Given the description of an element on the screen output the (x, y) to click on. 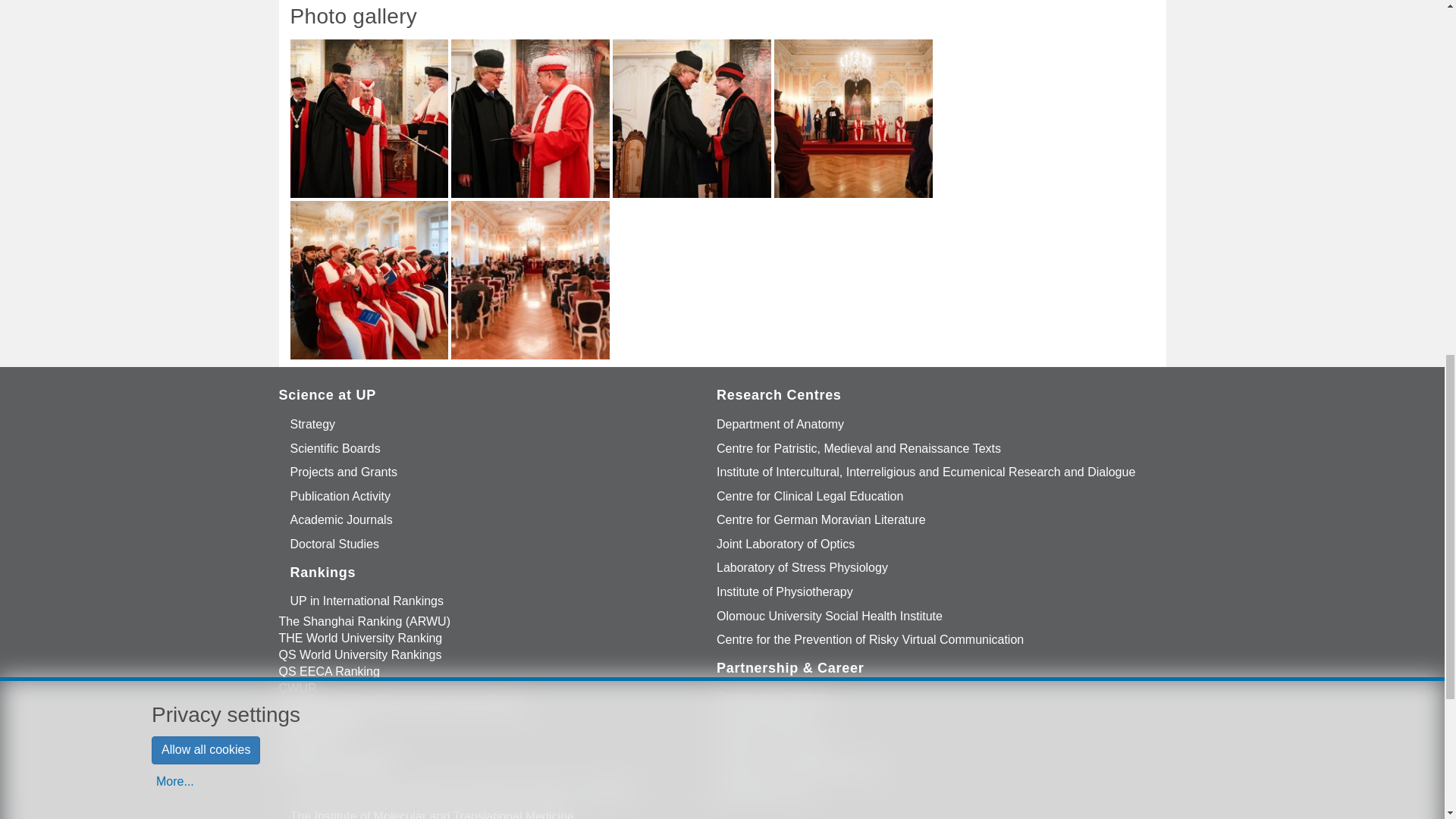
Projects and Grants (344, 472)
UP in International Rankings (367, 601)
Opens internal link in current window (344, 472)
Opens internal link in current window (341, 496)
The Institute of Molecular and Translational Medicine (432, 811)
Opens internal link in current window (341, 519)
Publication Activity (341, 496)
Academic Journals (341, 519)
Scientific Boards (335, 448)
Opens internal link in current window (313, 424)
